Given the description of an element on the screen output the (x, y) to click on. 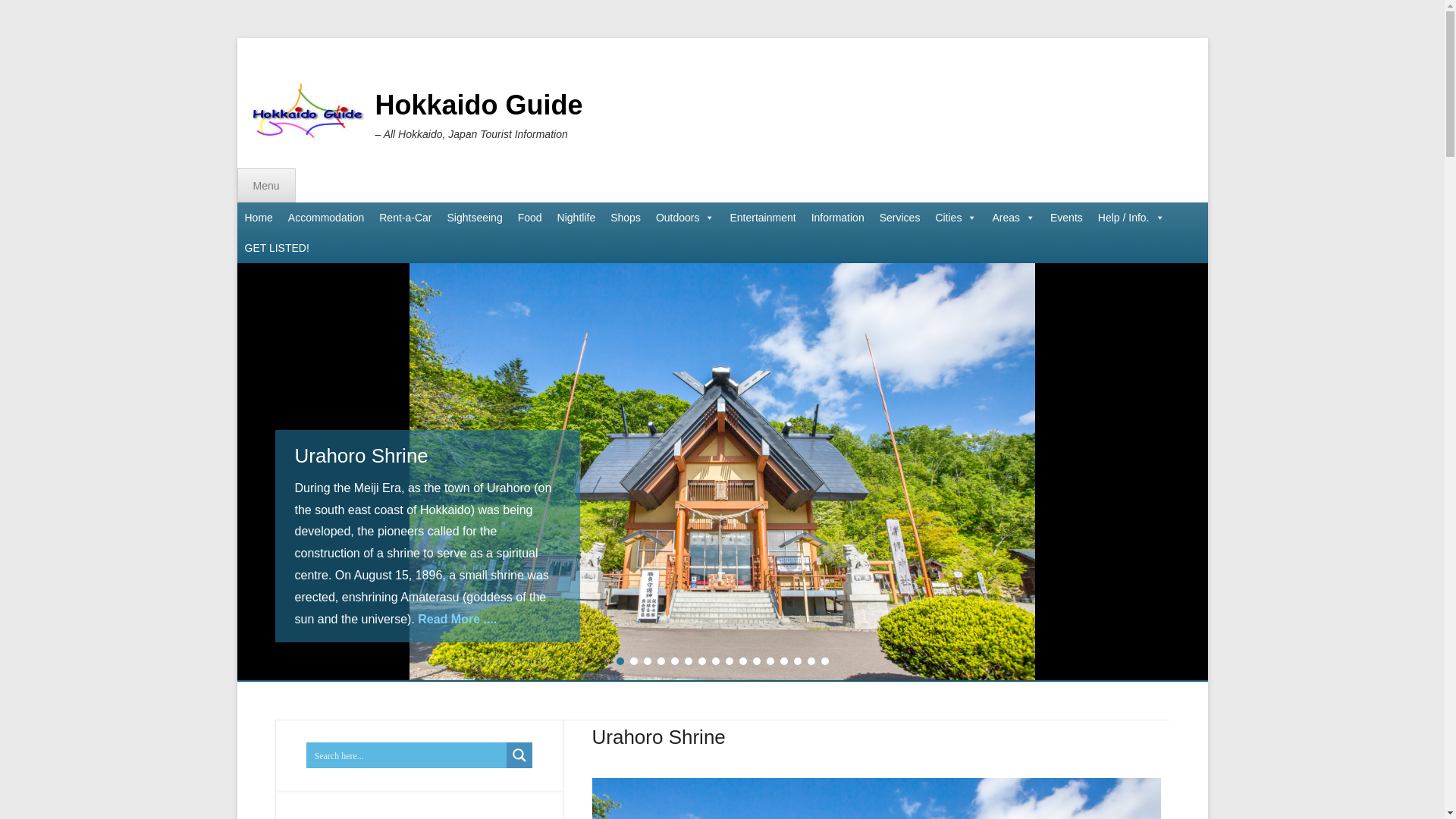
Events (1066, 217)
Food (530, 217)
Entertainment (762, 217)
Accommodation (326, 217)
Hokkaido Guide (478, 104)
Information (837, 217)
Hokkaido Guide (478, 104)
Outdoors (684, 217)
Services (900, 217)
Sightseeing (475, 217)
Home (257, 217)
Shops (624, 217)
Menu (265, 185)
Areas (1013, 217)
